Given the description of an element on the screen output the (x, y) to click on. 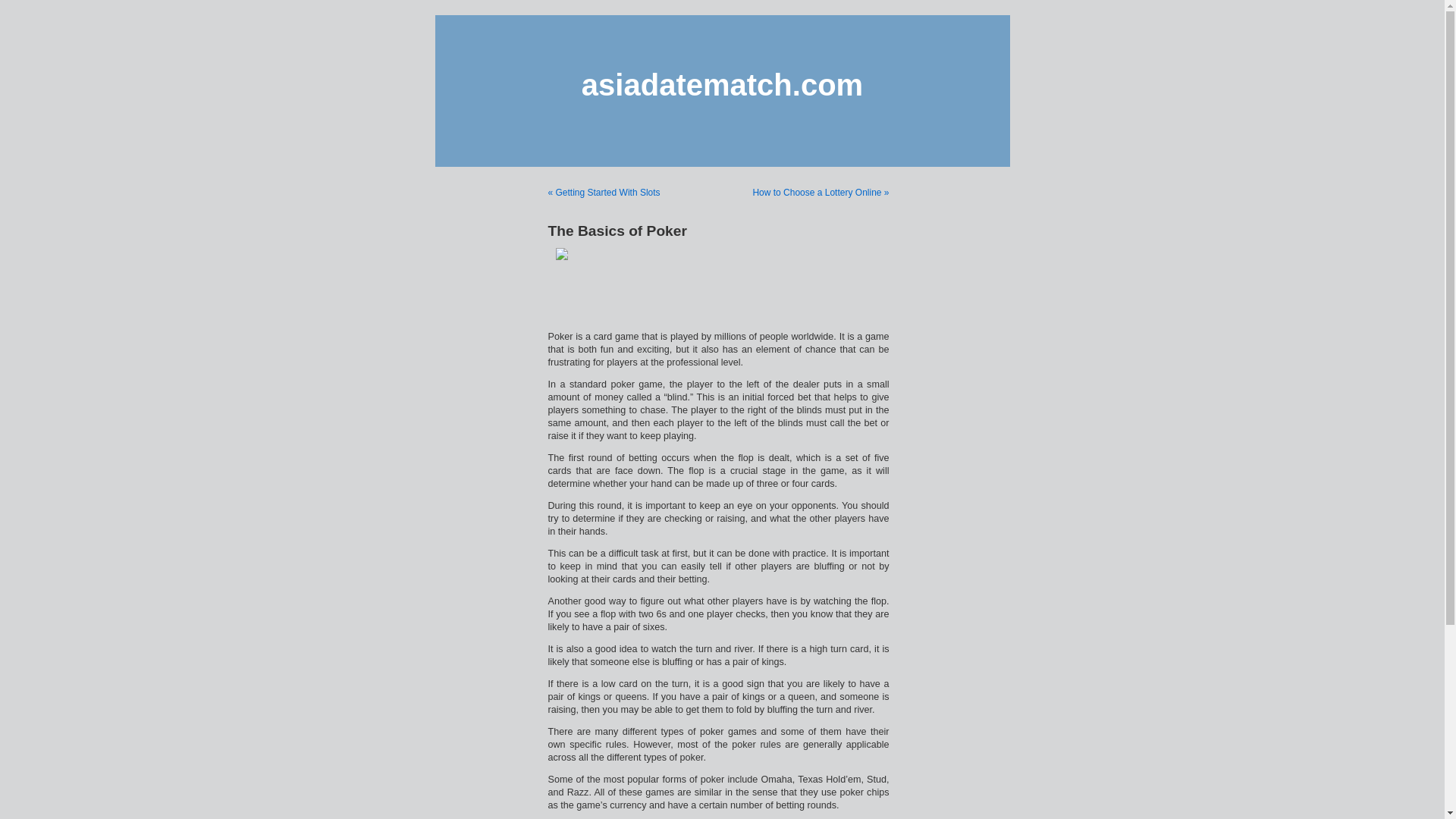
asiadatematch.com (721, 84)
